Given the description of an element on the screen output the (x, y) to click on. 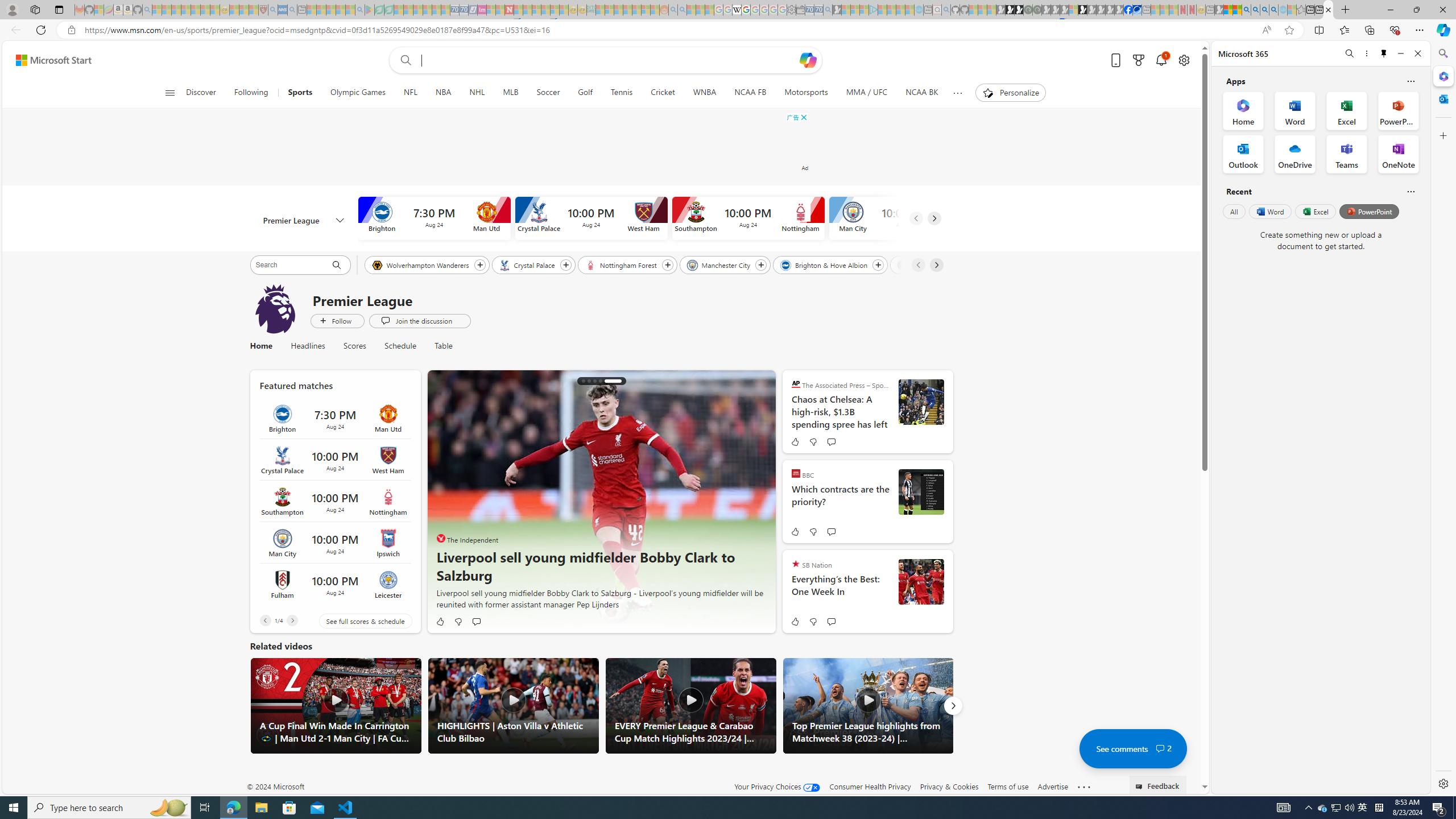
previous (442, 501)
Your Privacy Choices (777, 785)
AirNow.gov (1137, 9)
Scores (354, 345)
Follow Crystal Palace (565, 265)
Future Focus Report 2024 - Sleeping (1036, 9)
